Given the description of an element on the screen output the (x, y) to click on. 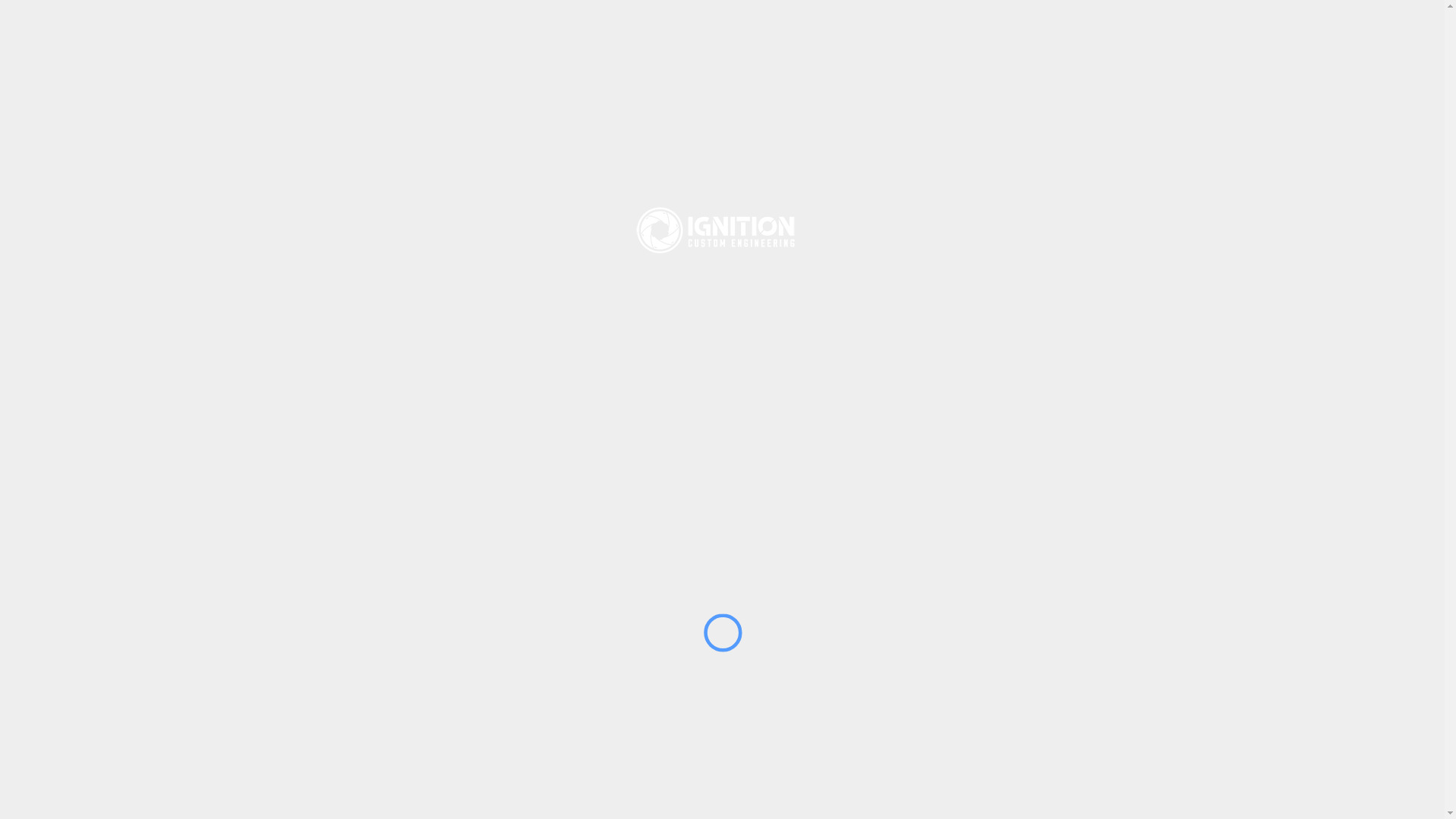
Services Element type: text (1060, 638)
Colorlib Element type: text (725, 766)
Contact Element type: text (993, 638)
Pixova Lite Element type: text (567, 766)
Shop Parts Element type: text (919, 638)
